Given the description of an element on the screen output the (x, y) to click on. 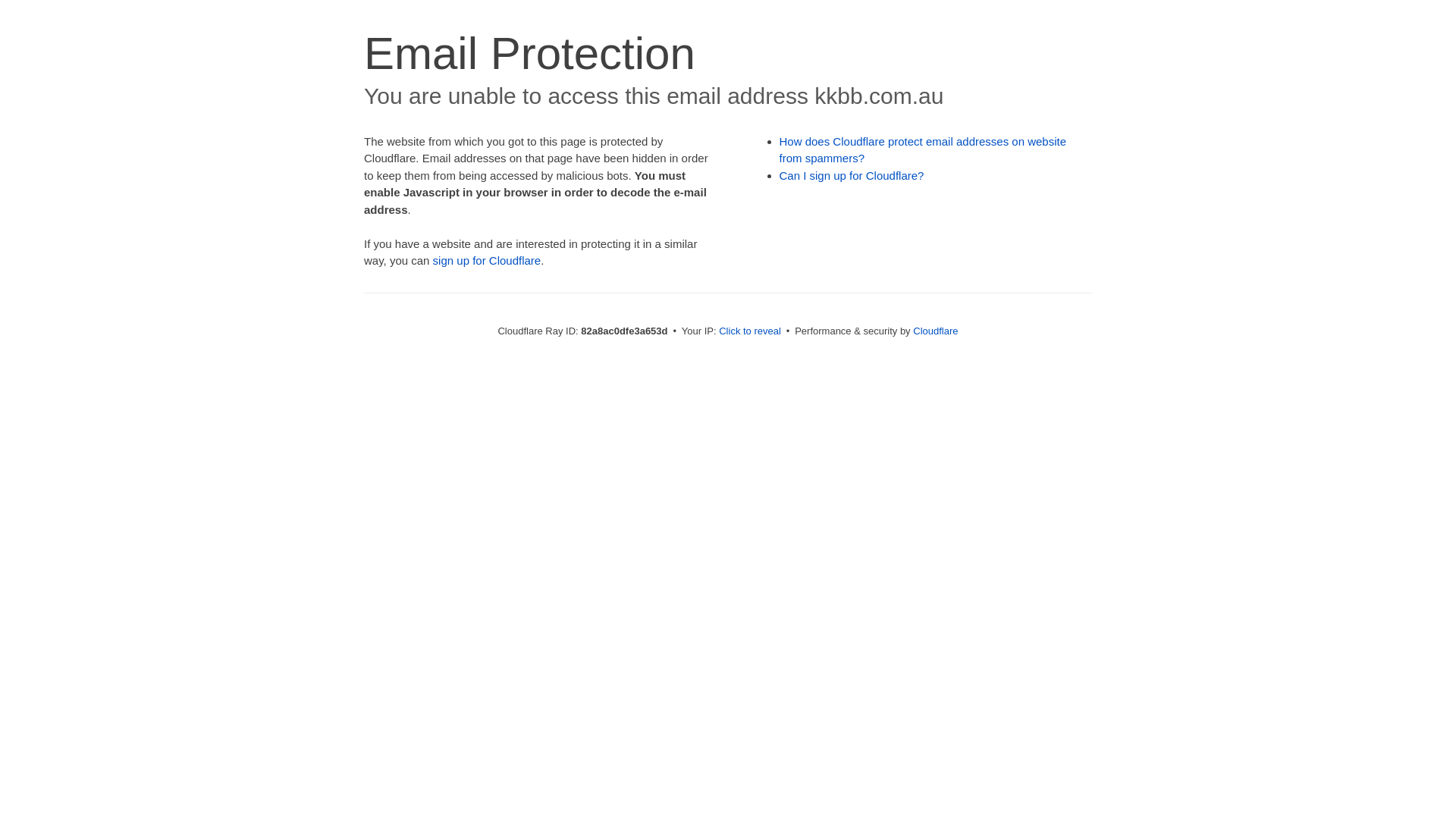
Click to reveal Element type: text (749, 330)
Can I sign up for Cloudflare? Element type: text (851, 175)
sign up for Cloudflare Element type: text (487, 260)
Cloudflare Element type: text (935, 330)
